Given the description of an element on the screen output the (x, y) to click on. 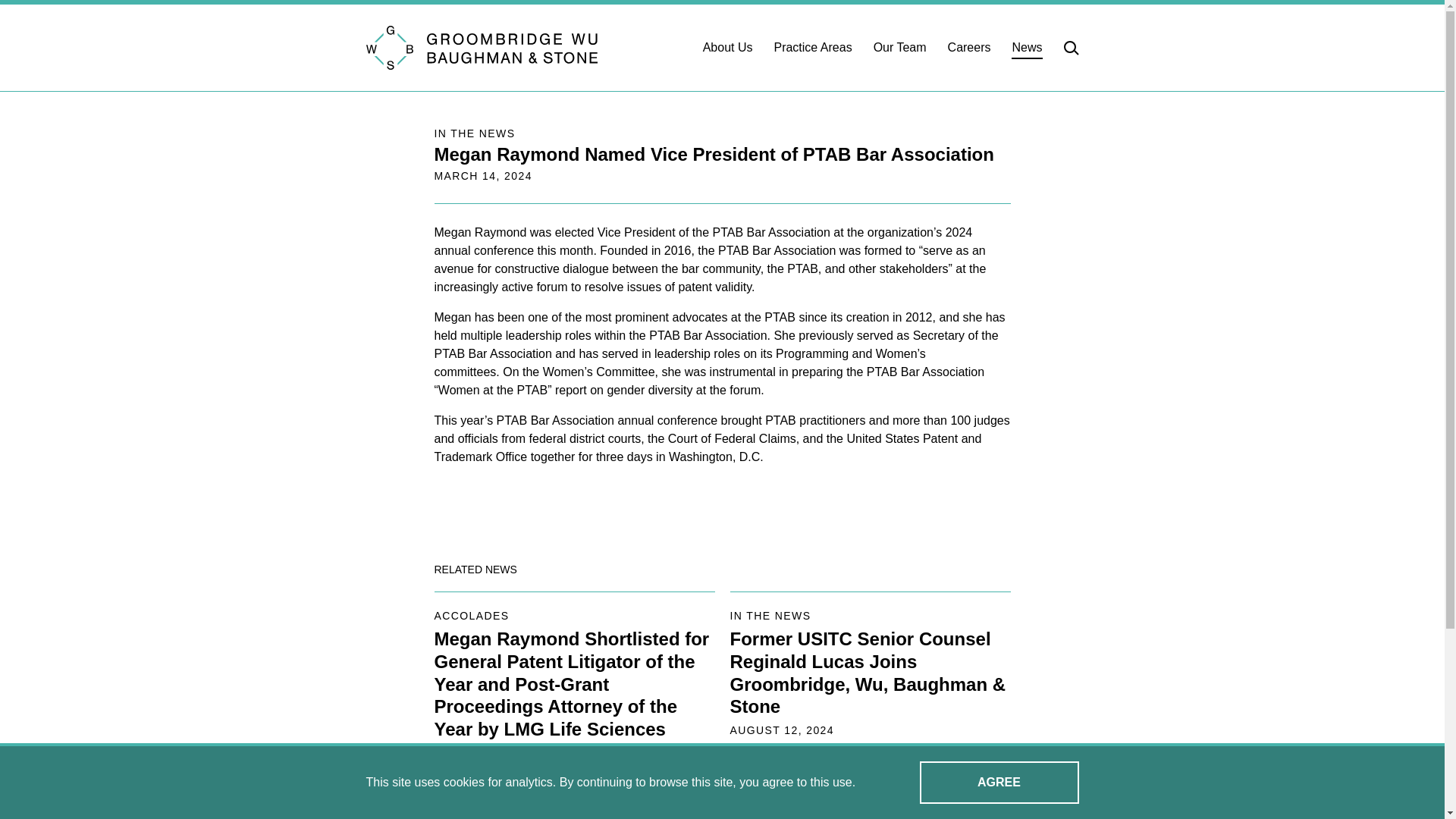
Practice Areas (812, 47)
IN THE NEWS (474, 133)
ACCOLADES (470, 616)
IN THE NEWS (769, 616)
AGREE (998, 782)
